Given the description of an element on the screen output the (x, y) to click on. 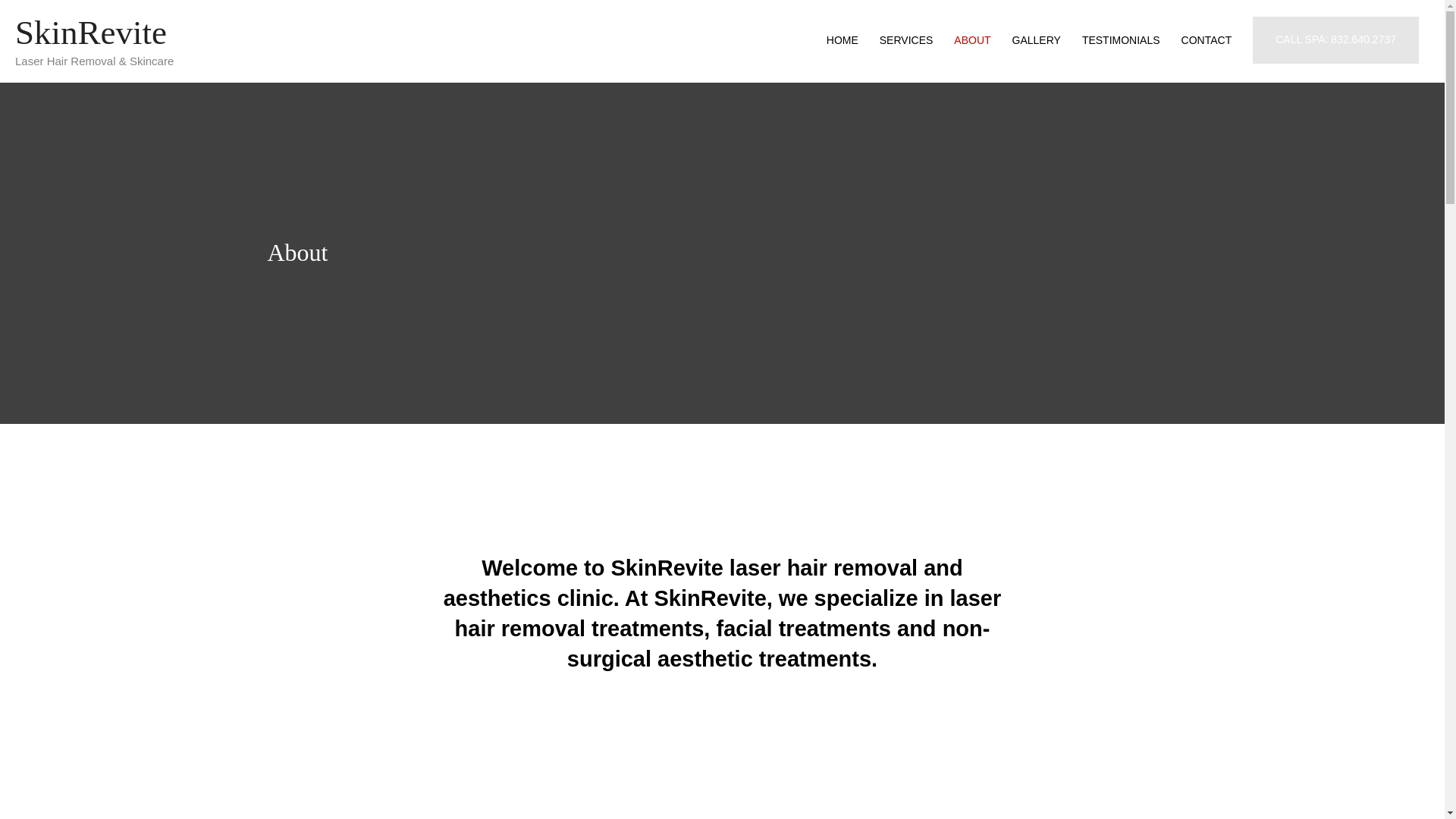
About (296, 252)
CALL SPA: 832.640.2737 (1335, 39)
SkinRevite (90, 32)
SERVICES (906, 39)
About (296, 252)
ABOUT (972, 39)
HOME (842, 39)
CONTACT (1206, 39)
TESTIMONIALS (1120, 39)
